Given the description of an element on the screen output the (x, y) to click on. 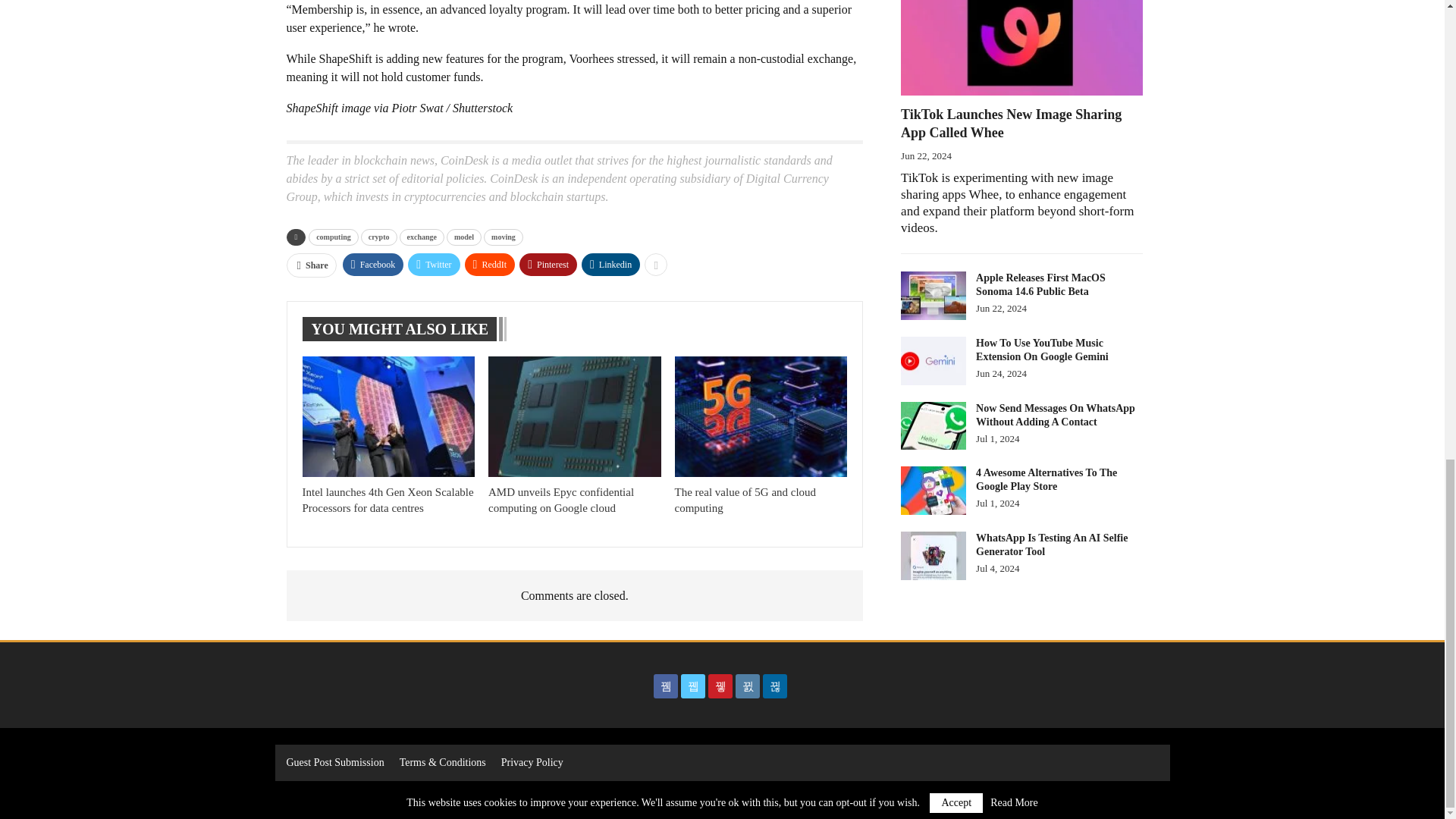
exchange (421, 237)
crypto (379, 237)
AMD unveils Epyc confidential computing on Google cloud (560, 500)
The real value of 5G and cloud computing (761, 416)
moving (502, 237)
The real value of 5G and cloud computing (745, 500)
computing (333, 237)
ReddIt (489, 264)
Twitter (433, 264)
AMD unveils Epyc confidential computing on Google cloud (574, 416)
model (463, 237)
Facebook (373, 264)
Pinterest (547, 264)
